Given the description of an element on the screen output the (x, y) to click on. 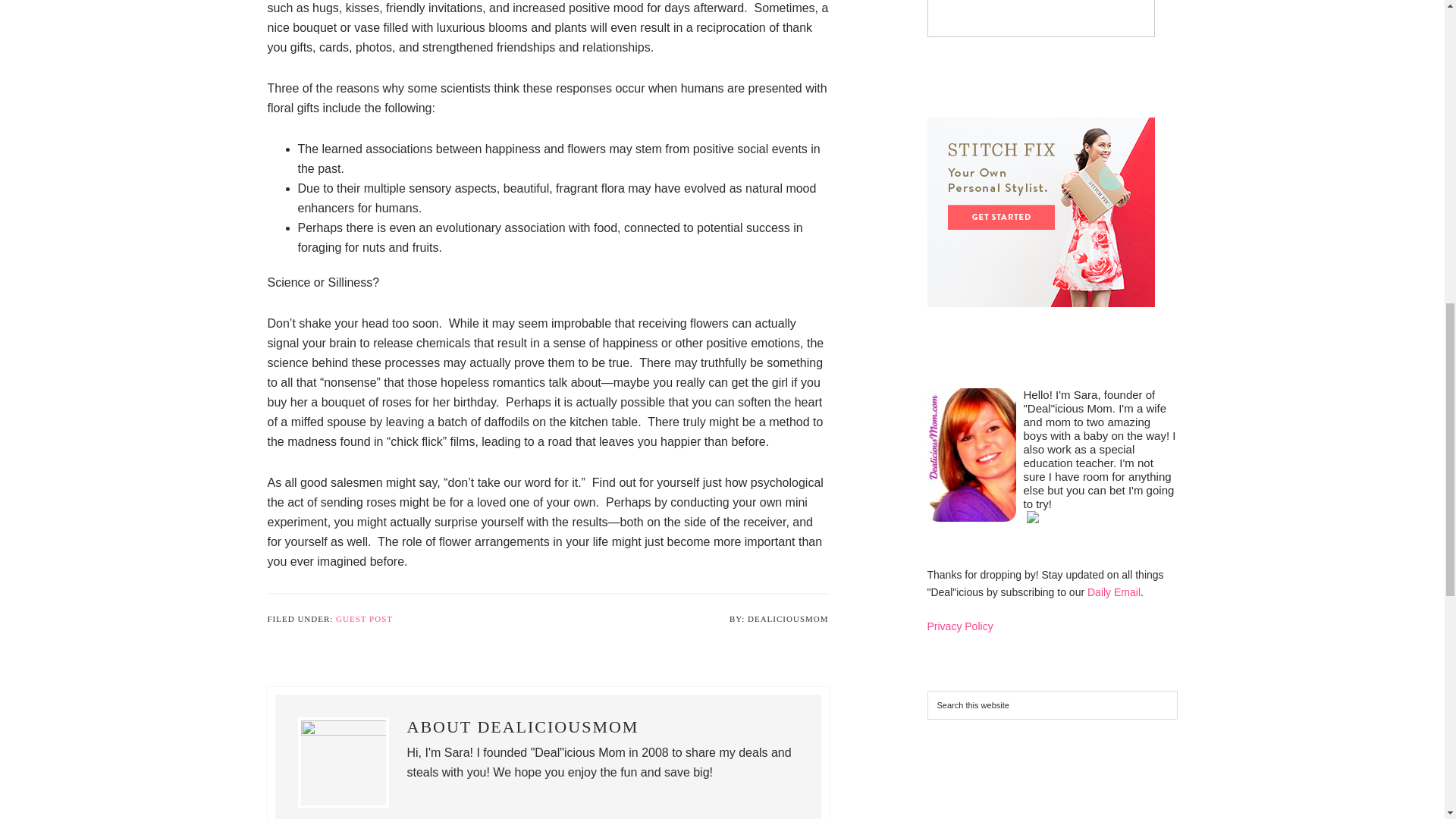
Subscribe by Email (1113, 592)
GUEST POST (364, 618)
Privacy Policy (959, 625)
Daily Email (1113, 592)
